Given the description of an element on the screen output the (x, y) to click on. 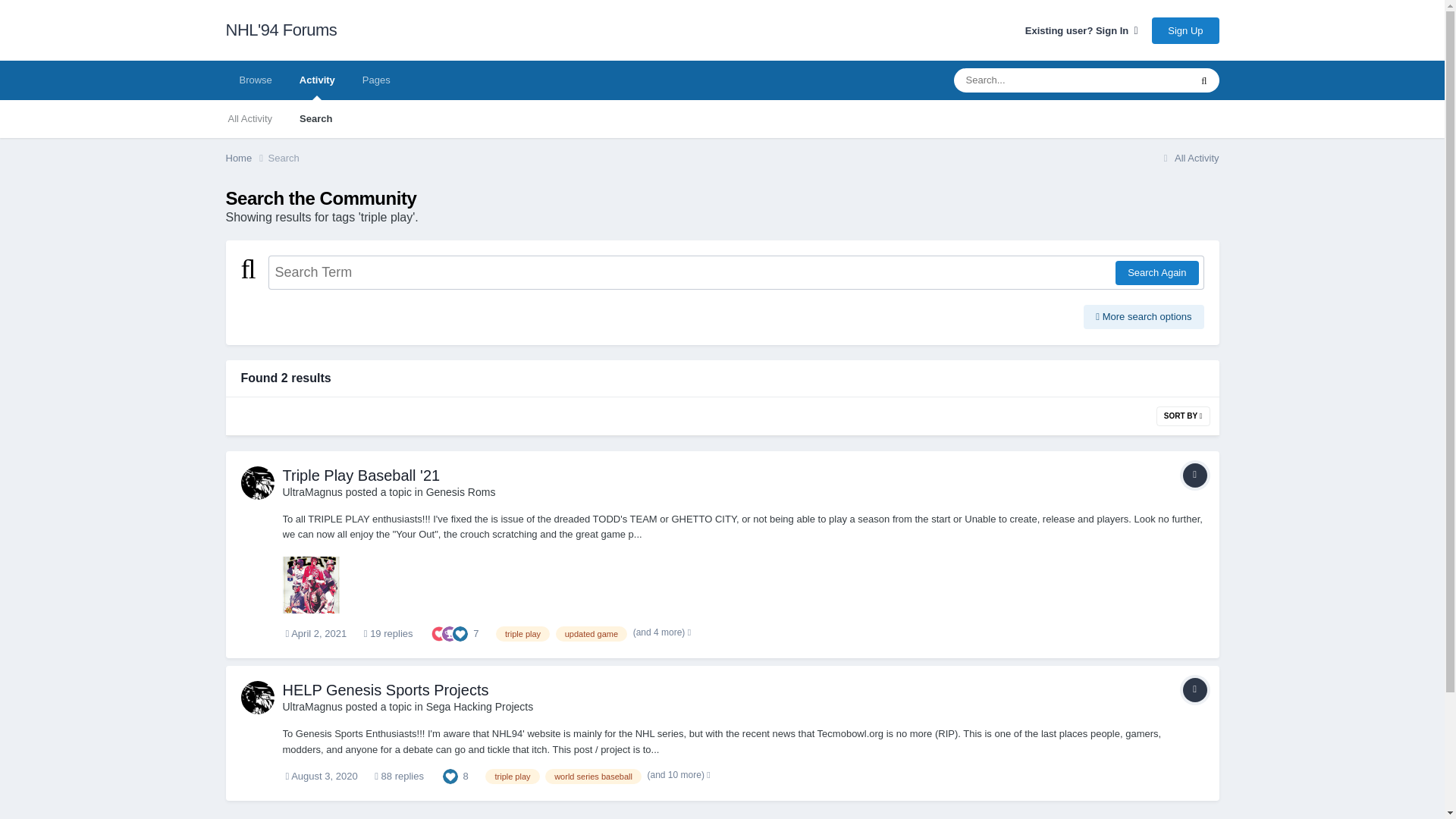
Find other content tagged with 'triple play' (523, 633)
Activity (317, 79)
Search (315, 118)
Go to UltraMagnus's profile (258, 482)
All Activity (1188, 157)
Find other content tagged with 'updated game' (591, 633)
NHL'94 Forums (281, 30)
Go to UltraMagnus's profile (312, 491)
Like (459, 632)
Love (438, 632)
Pages (376, 79)
Home (246, 158)
Existing user? Sign In   (1081, 30)
Home (246, 158)
More search options (1143, 316)
